Given the description of an element on the screen output the (x, y) to click on. 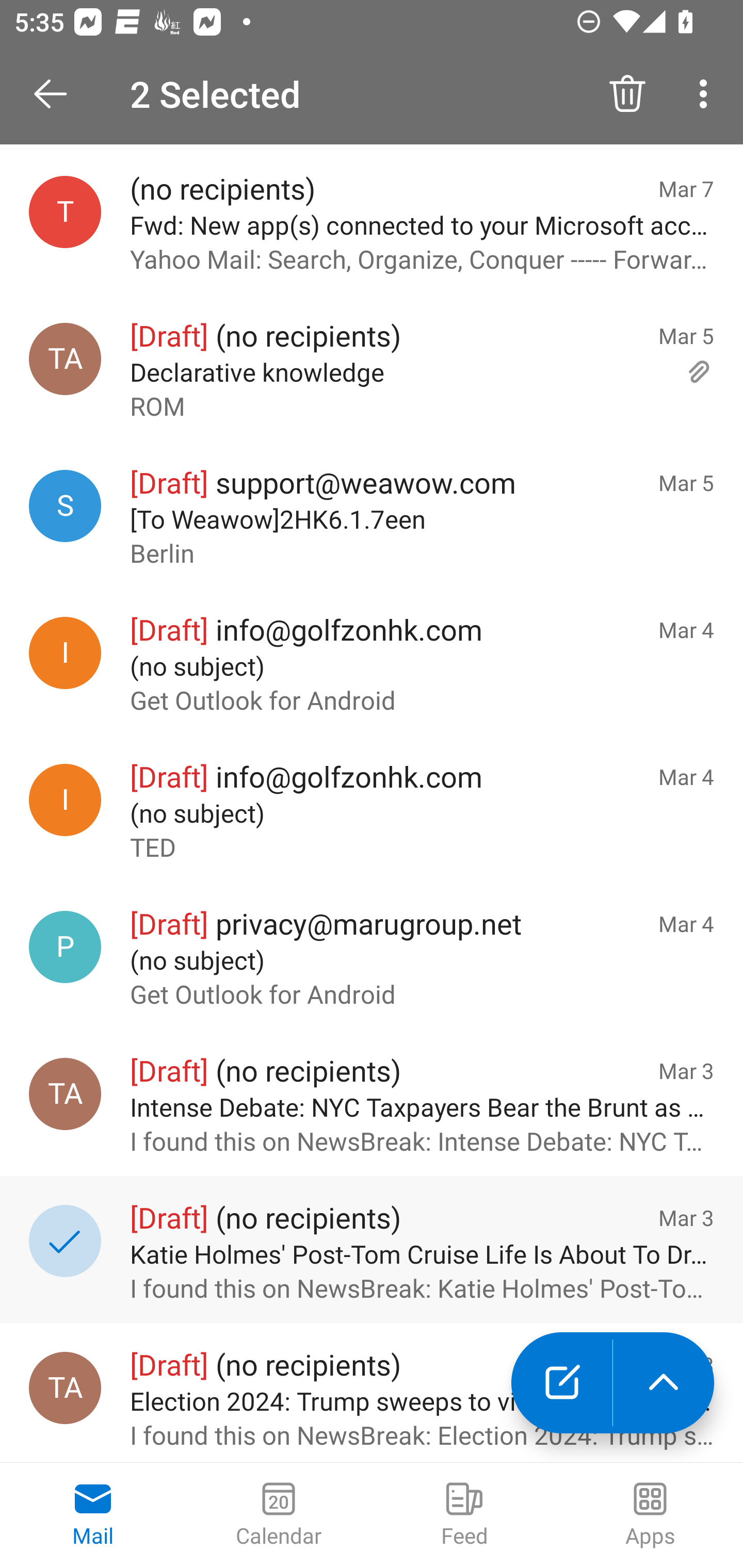
Delete (626, 93)
More options (706, 93)
Open Navigation Drawer (57, 94)
testappium002@outlook.com (64, 211)
Test Appium, testappium002@outlook.com (64, 359)
support@weawow.com (64, 506)
info@golfzonhk.com (64, 652)
info@golfzonhk.com (64, 799)
privacy@marugroup.net (64, 947)
Test Appium, testappium002@outlook.com (64, 1094)
New mail (561, 1382)
launch the extended action menu (663, 1382)
Test Appium, testappium002@outlook.com (64, 1387)
Calendar (278, 1515)
Feed (464, 1515)
Apps (650, 1515)
